Given the description of an element on the screen output the (x, y) to click on. 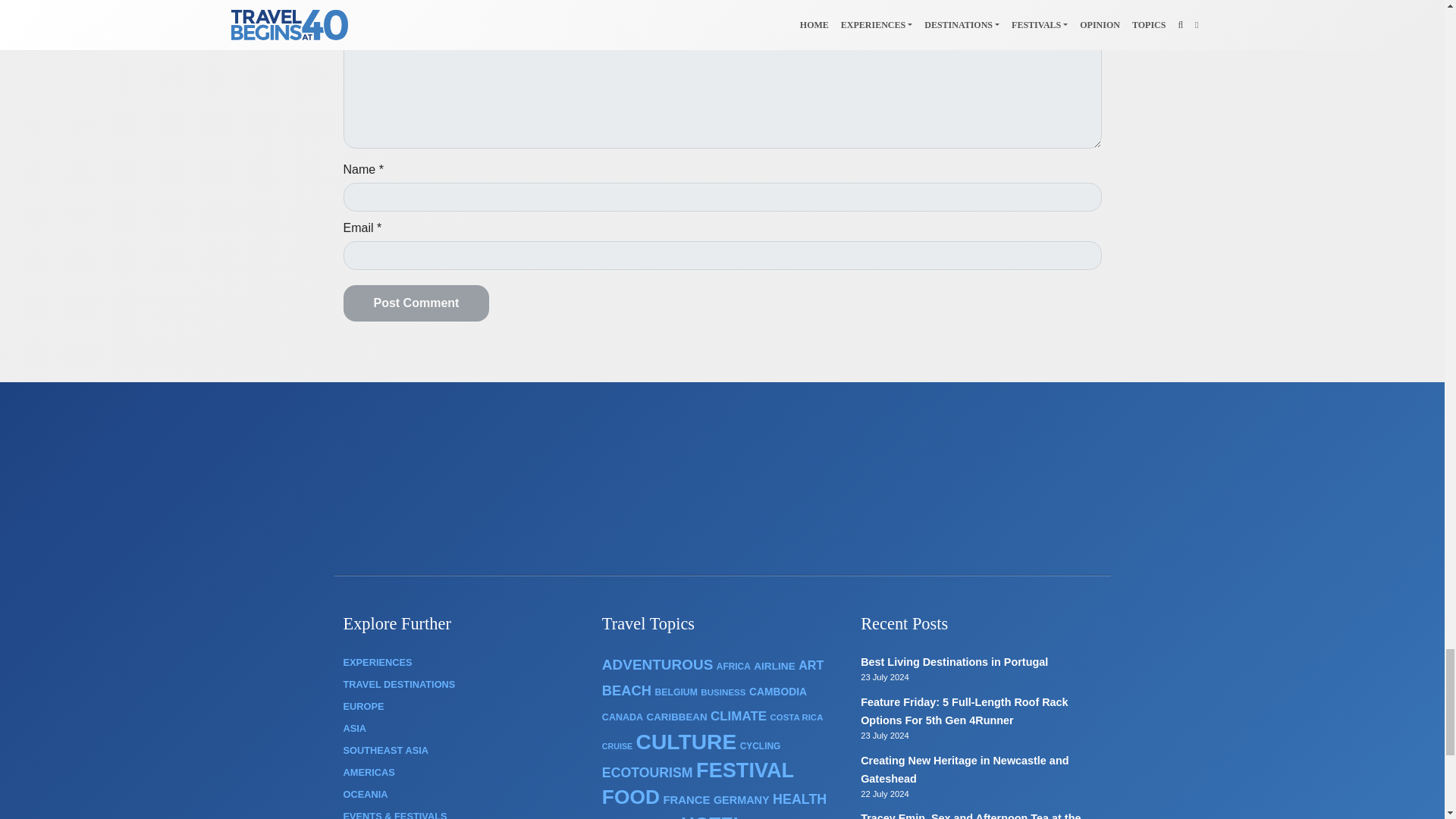
Post Comment (415, 303)
